Given the description of an element on the screen output the (x, y) to click on. 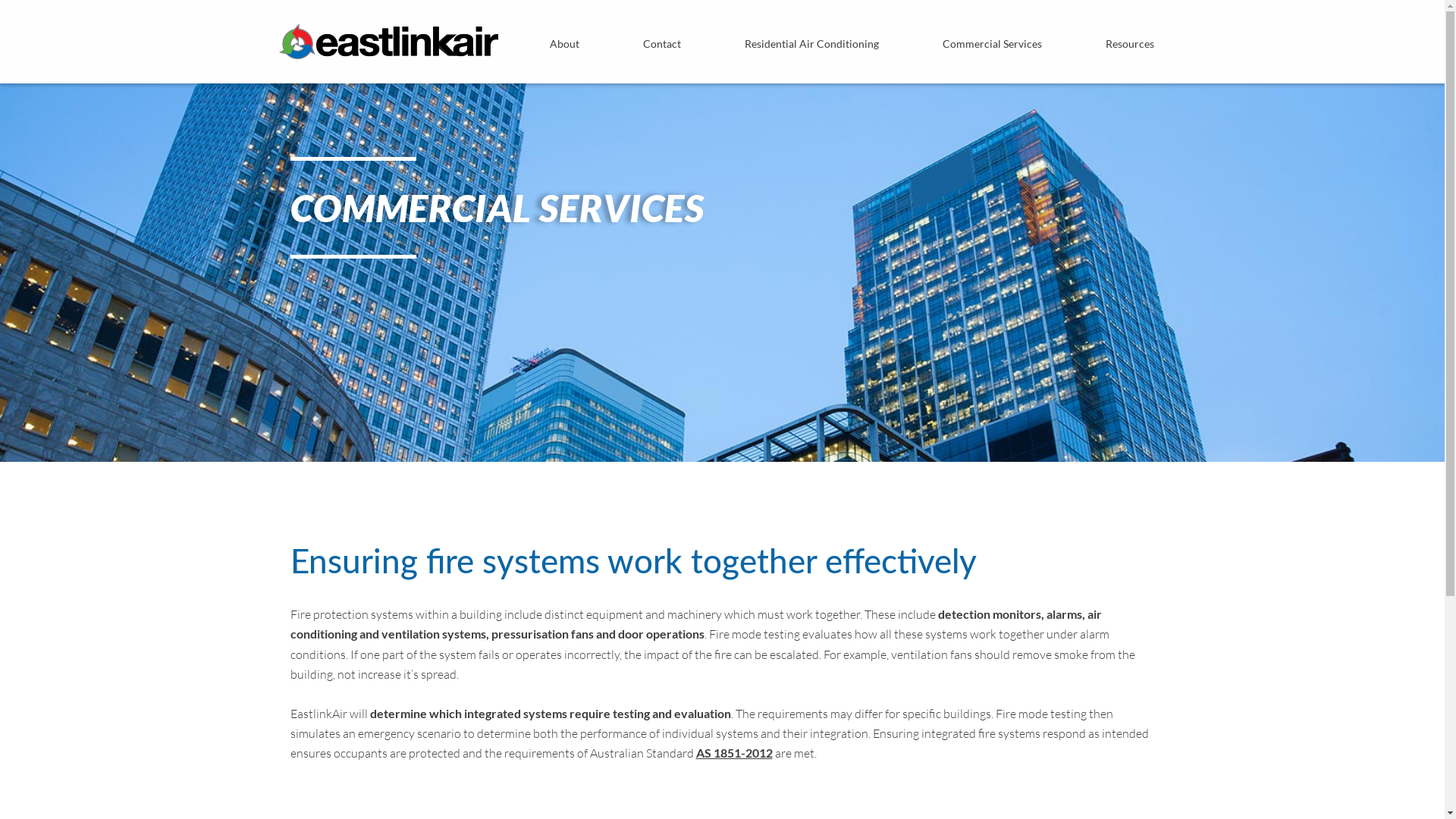
AS 1851-2012 Element type: text (734, 752)
Residential Air Conditioning Element type: text (811, 41)
Resources Element type: text (1129, 41)
Commercial Services Element type: text (991, 41)
EastlinkAir Element type: text (388, 41)
About Element type: text (563, 41)
Contact Element type: text (661, 41)
